Given the description of an element on the screen output the (x, y) to click on. 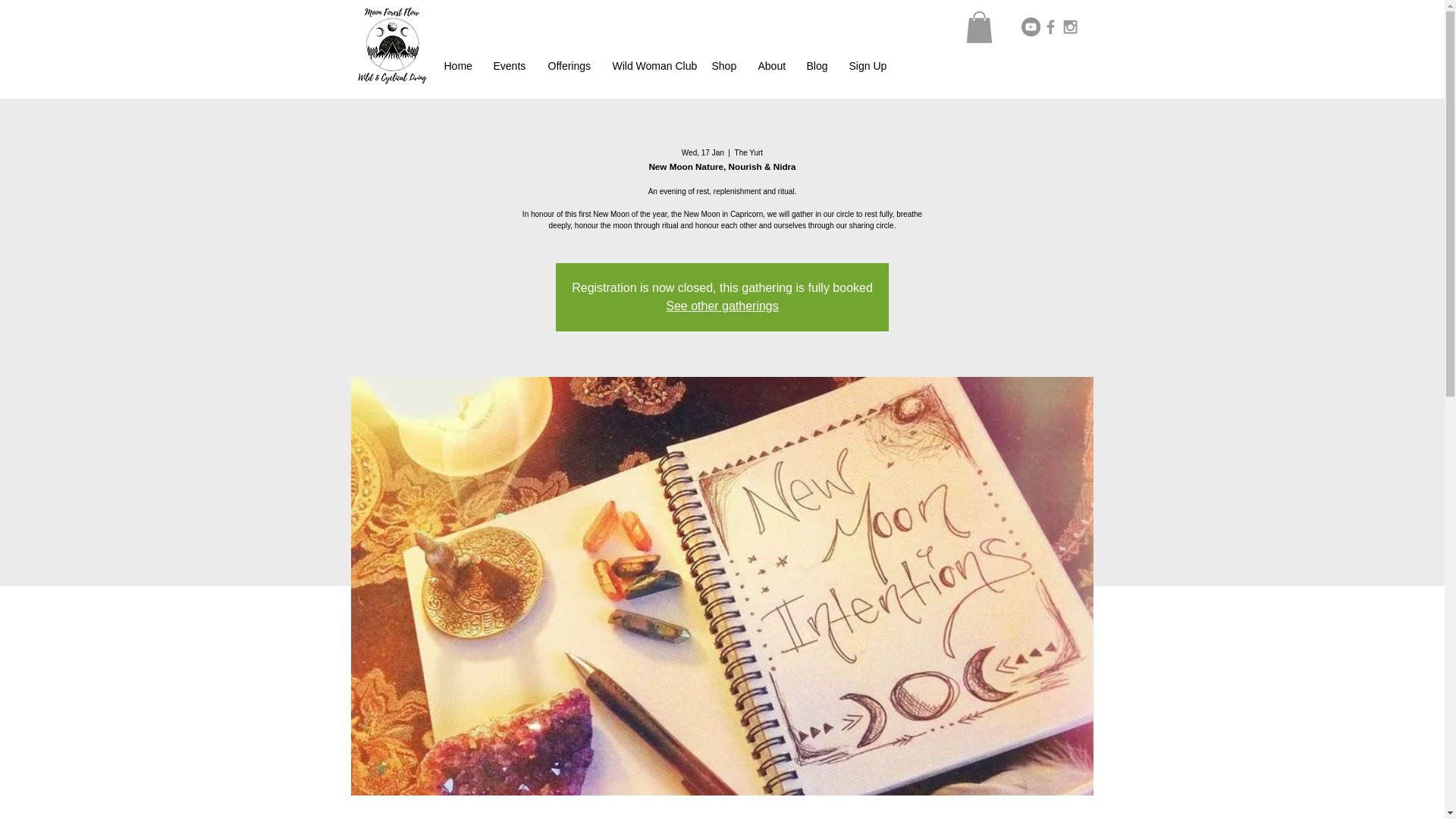
Sign Up (866, 65)
Blog (815, 65)
Wild Woman Club (649, 65)
Shop (723, 65)
See other gatherings (721, 305)
Events (509, 65)
Home (456, 65)
